Given the description of an element on the screen output the (x, y) to click on. 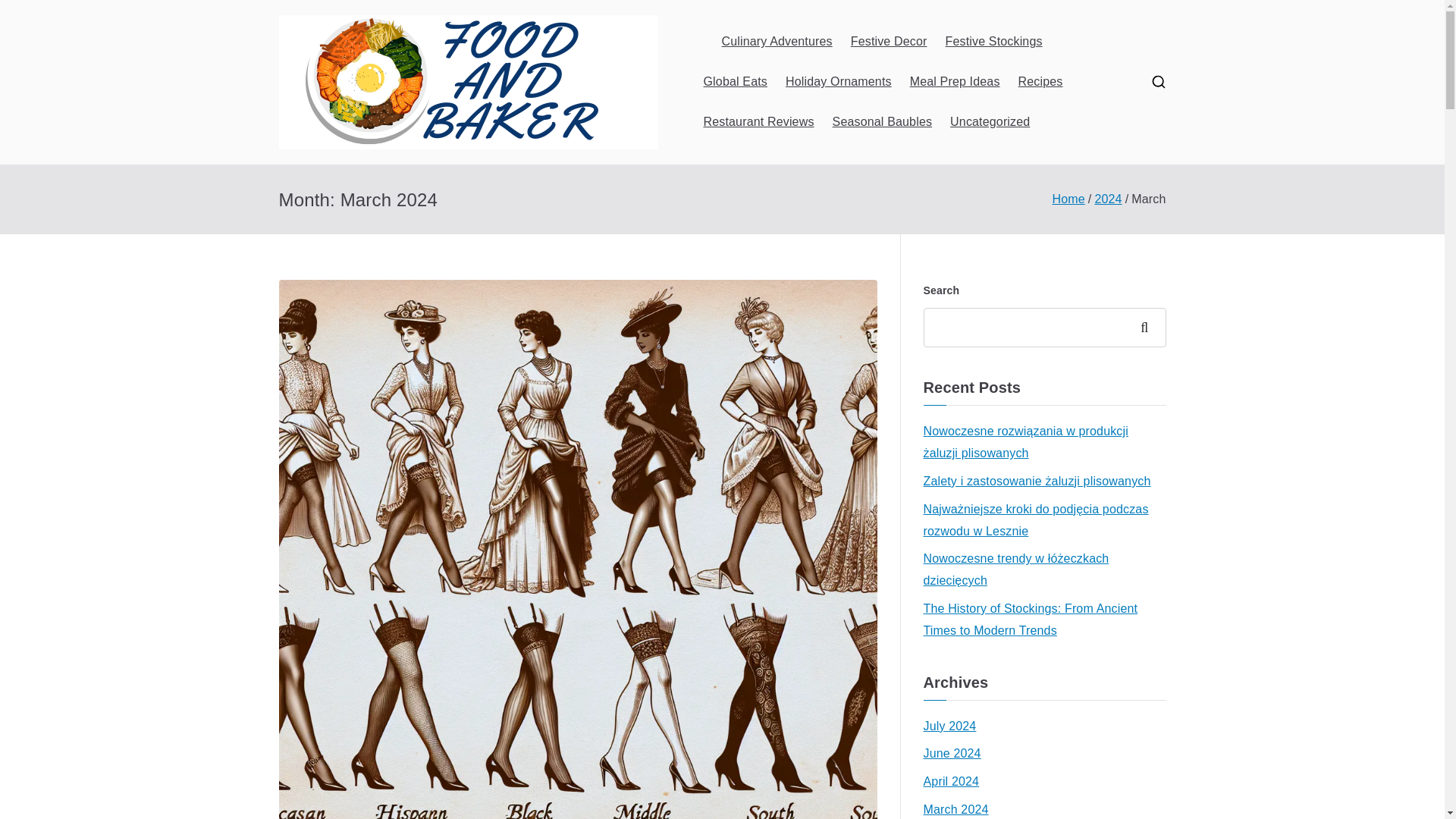
Global Eats (735, 82)
Restaurant Reviews (758, 122)
Culinary Adventures (777, 42)
Holiday Ornaments (838, 82)
foodandbaker (773, 101)
Festive Stockings (993, 42)
Seasonal Baubles (882, 122)
Uncategorized (989, 122)
Recipes (1039, 82)
Meal Prep Ideas (955, 82)
Festive Decor (888, 42)
Search (26, 12)
